Given the description of an element on the screen output the (x, y) to click on. 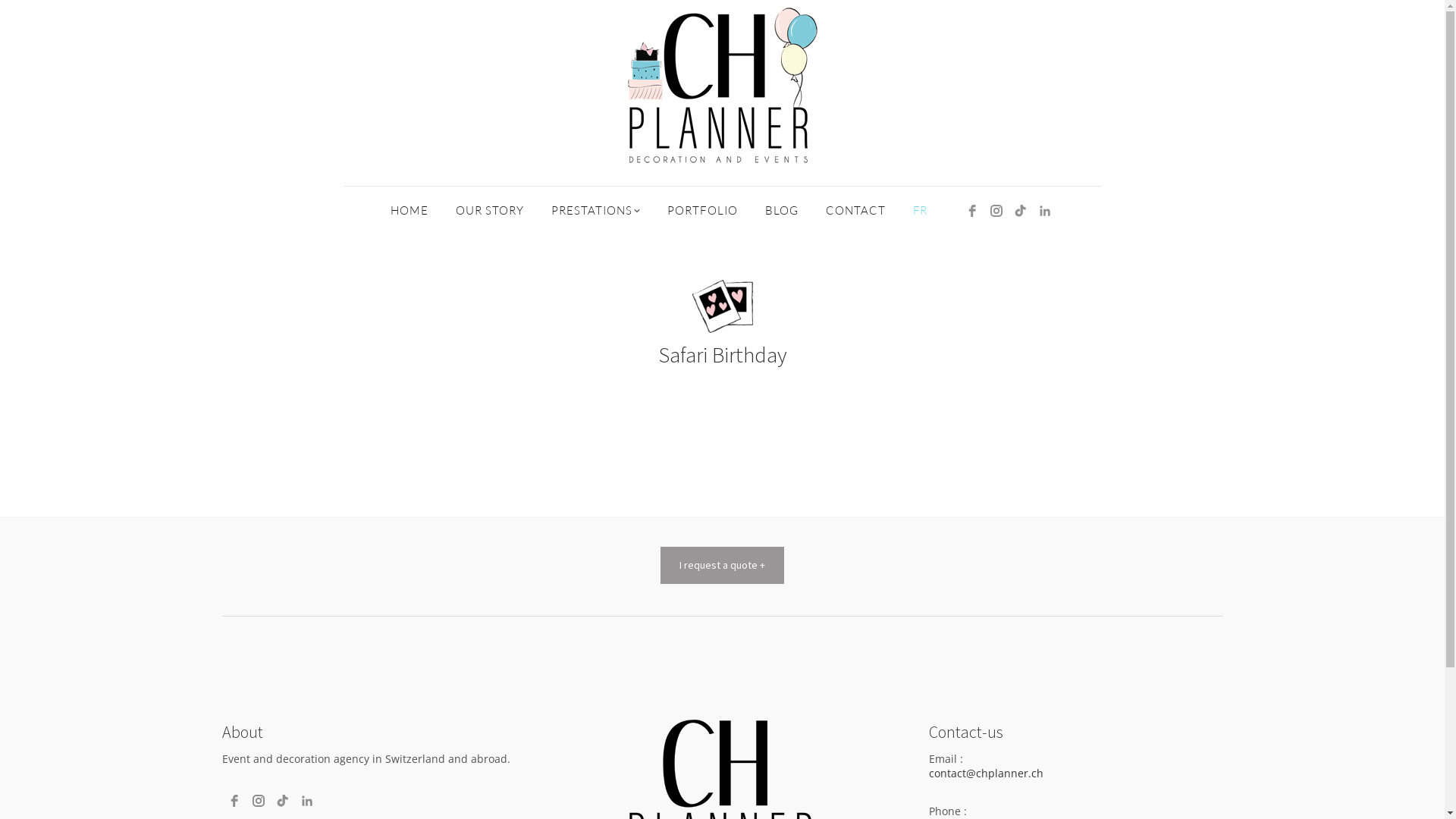
BLOG Element type: text (781, 210)
FR Element type: text (919, 210)
PRESTATIONS Element type: text (595, 210)
CONTACT Element type: text (855, 210)
contact@chplanner.ch Element type: text (985, 772)
OUR STORY Element type: text (489, 210)
I request a quote + Element type: text (722, 564)
HOME Element type: text (409, 210)
PORTFOLIO Element type: text (702, 210)
